Given the description of an element on the screen output the (x, y) to click on. 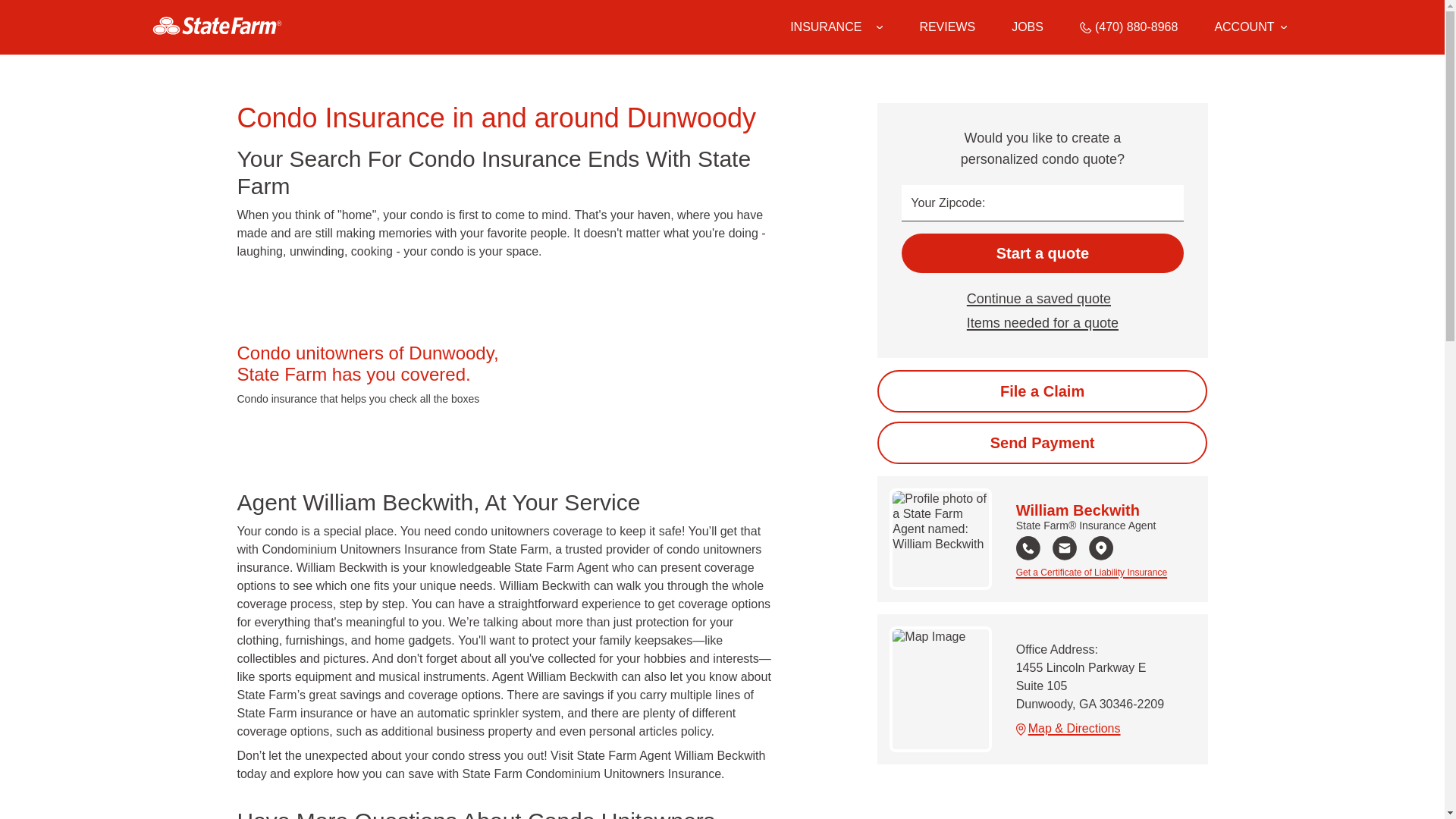
ACCOUNT (1250, 27)
Insurance (836, 27)
REVIEWS (946, 27)
JOBS (1027, 27)
Account Options (1250, 27)
Start the claim process online (1042, 391)
INSURANCE (825, 27)
